Given the description of an element on the screen output the (x, y) to click on. 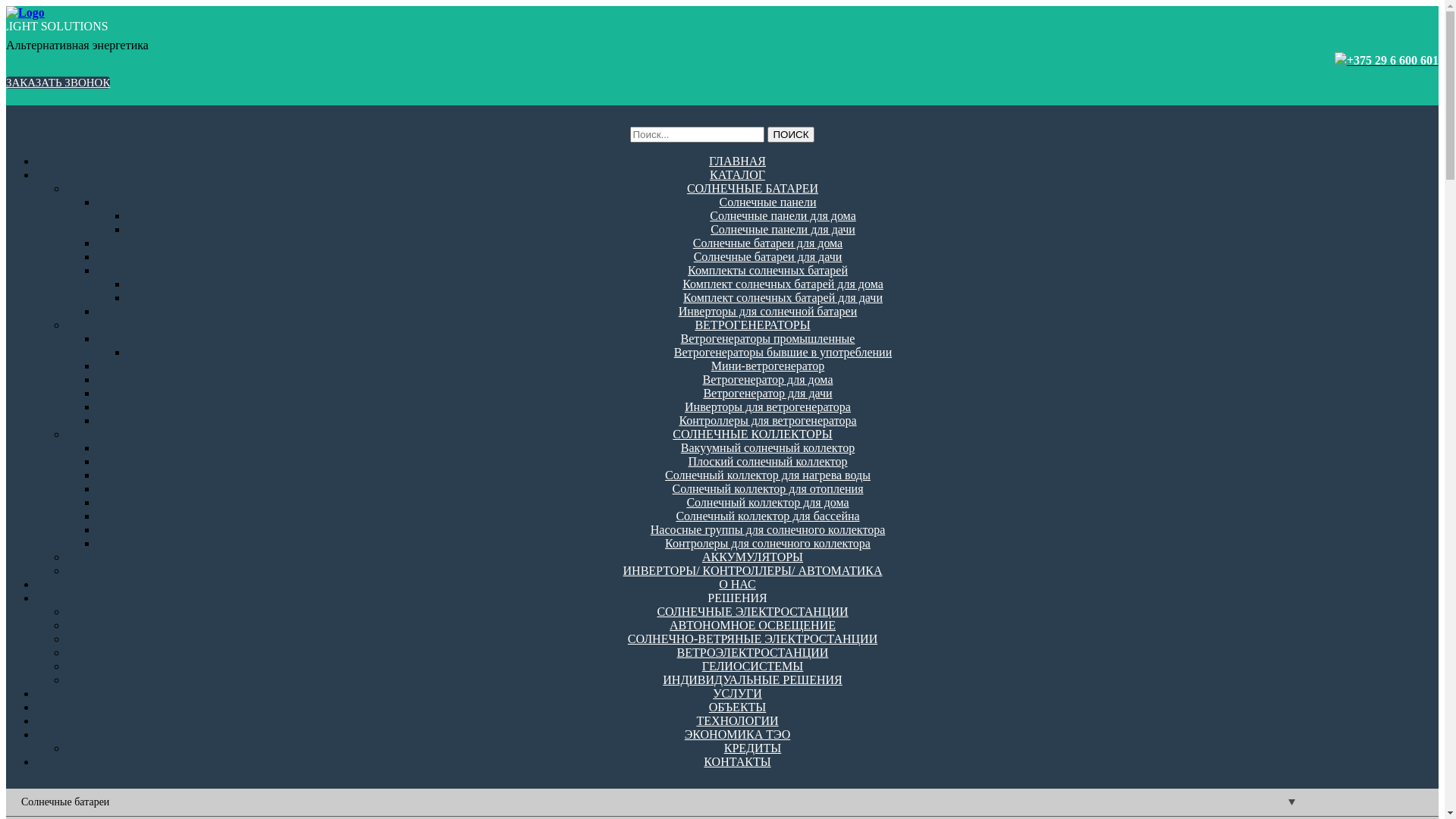
+375 29 6 600 601 Element type: text (1392, 59)
